Given the description of an element on the screen output the (x, y) to click on. 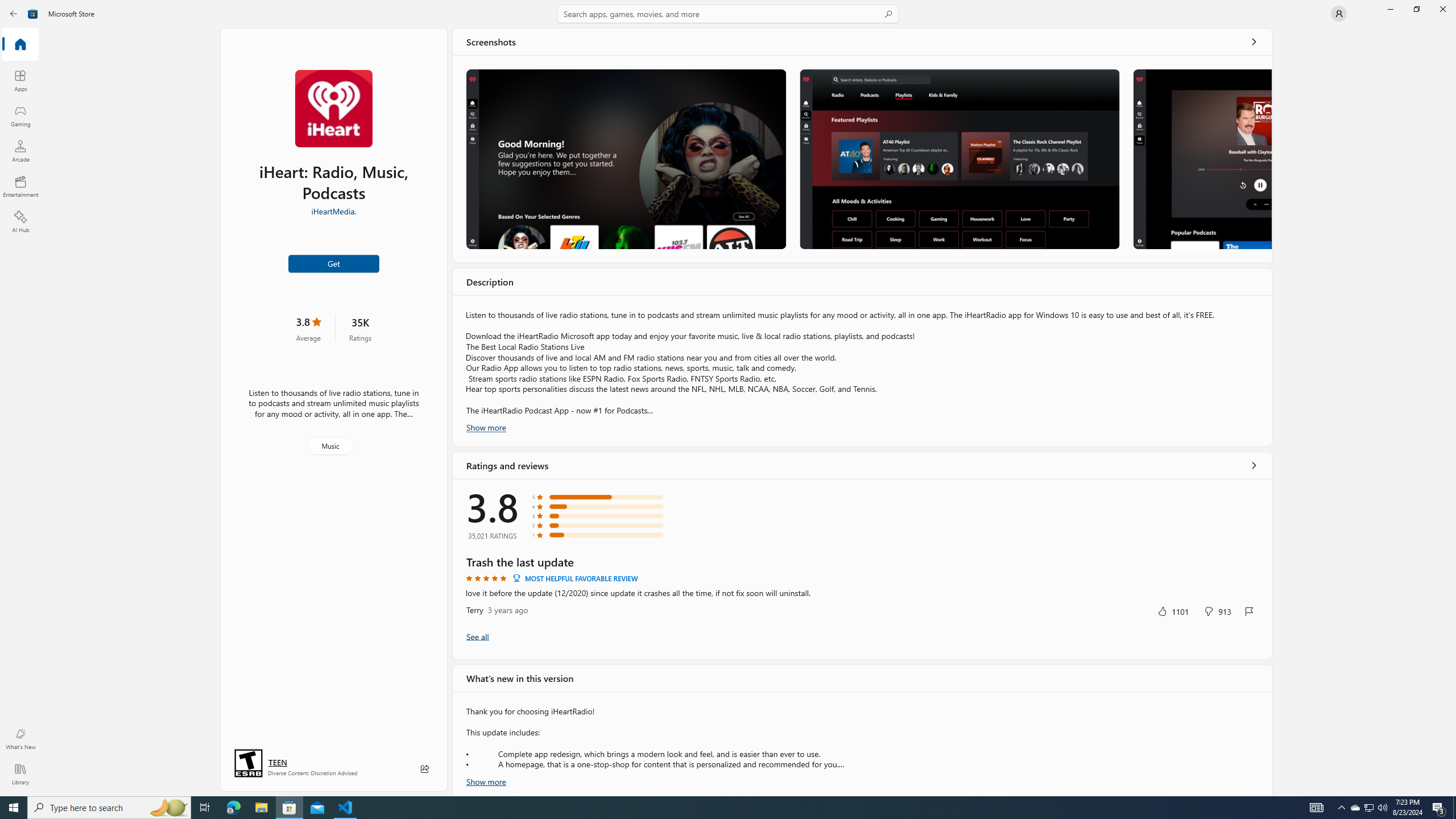
Screenshot 2 (959, 158)
Yes, this was helpful. 1101 votes. (1173, 610)
Entertainment (20, 185)
Share (424, 769)
Class: Image (32, 13)
Report review (1248, 610)
3.8 stars. Click to skip to ratings and reviews (307, 328)
Show more (485, 780)
Close Microsoft Store (1442, 9)
See all (1253, 41)
Apps (20, 80)
What's New (20, 738)
Screenshot 1 (625, 158)
Get (334, 263)
Minimize Microsoft Store (1390, 9)
